Given the description of an element on the screen output the (x, y) to click on. 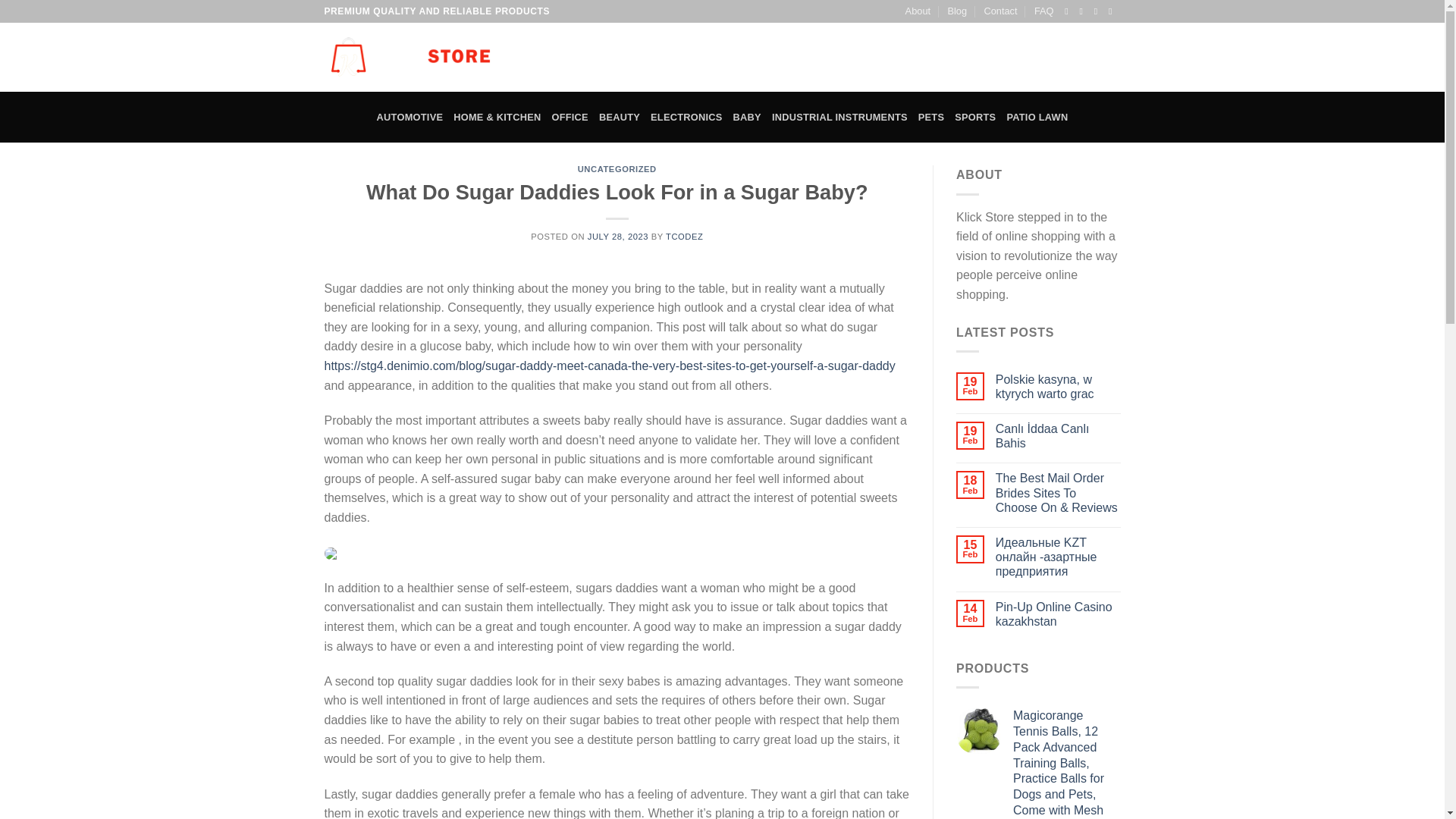
Search (942, 57)
UNCATEGORIZED (617, 168)
JULY 28, 2023 (617, 235)
PATIO LAWN (1036, 116)
About (917, 11)
INDUSTRIAL INSTRUMENTS (839, 116)
Klick Store - Shopping That Brings Joy (409, 57)
ELECTRONICS (686, 116)
AUTOMOTIVE (410, 116)
TCODEZ (684, 235)
Contact (1000, 11)
